Given the description of an element on the screen output the (x, y) to click on. 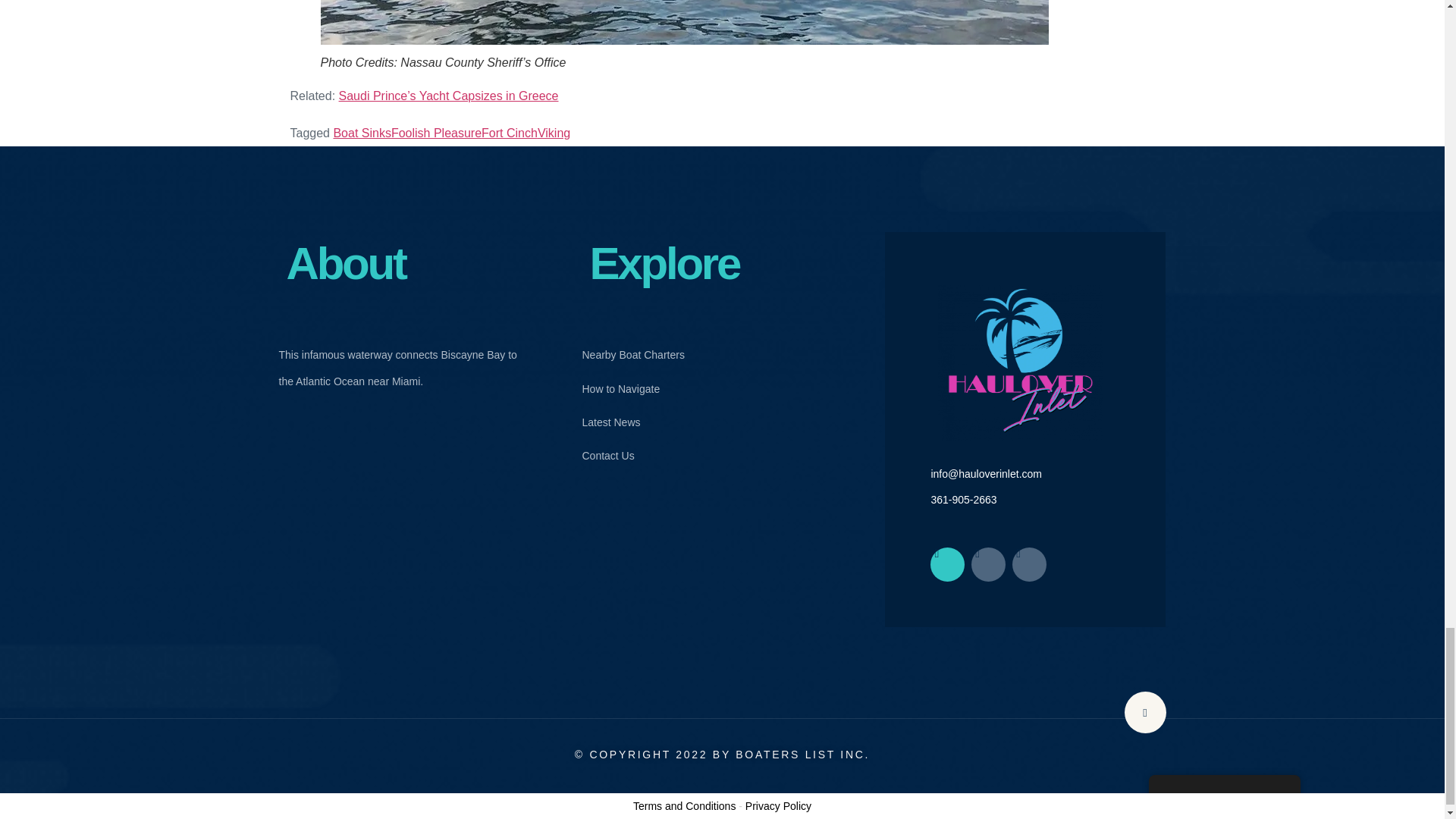
361-905-2663 (962, 499)
Viking (553, 132)
How to Navigate (632, 388)
Boat Sinks (361, 132)
Contact Us (632, 455)
Fort Cinch (509, 132)
Foolish Pleasure (436, 132)
Nearby Boat Charters (632, 354)
Latest News (632, 421)
